Given the description of an element on the screen output the (x, y) to click on. 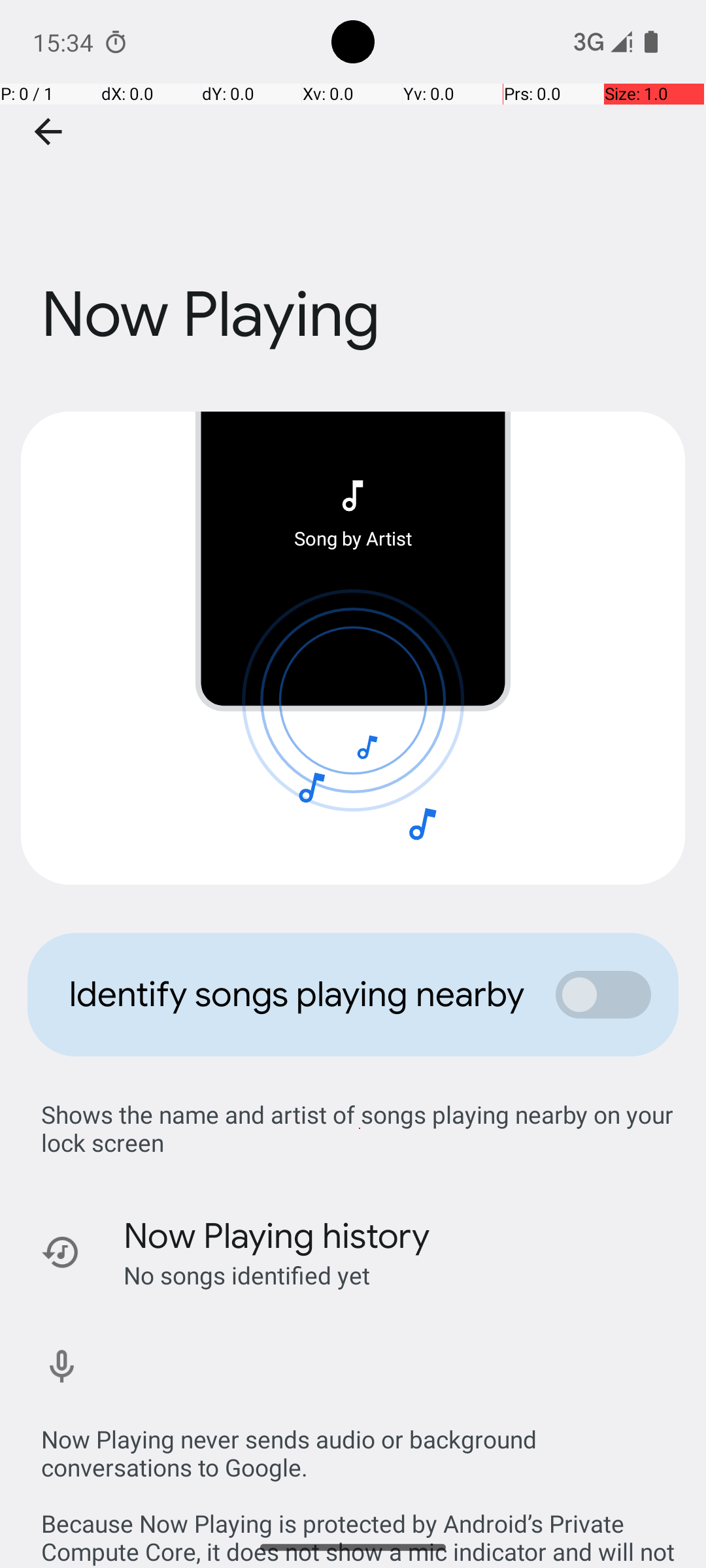
Shows the name and artist of songs playing nearby on your lock screen Element type: android.widget.TextView (359, 1128)
Now Playing history Element type: android.widget.TextView (276, 1235)
No songs identified yet Element type: android.widget.TextView (246, 1274)
Now Playing never sends audio or background conversations to Google.

Because Now Playing is protected by Android’s Private Compute Core, it does not show a mic indicator and will not appear on your Privacy dashboard. Element type: android.widget.TextView (359, 1481)
